Given the description of an element on the screen output the (x, y) to click on. 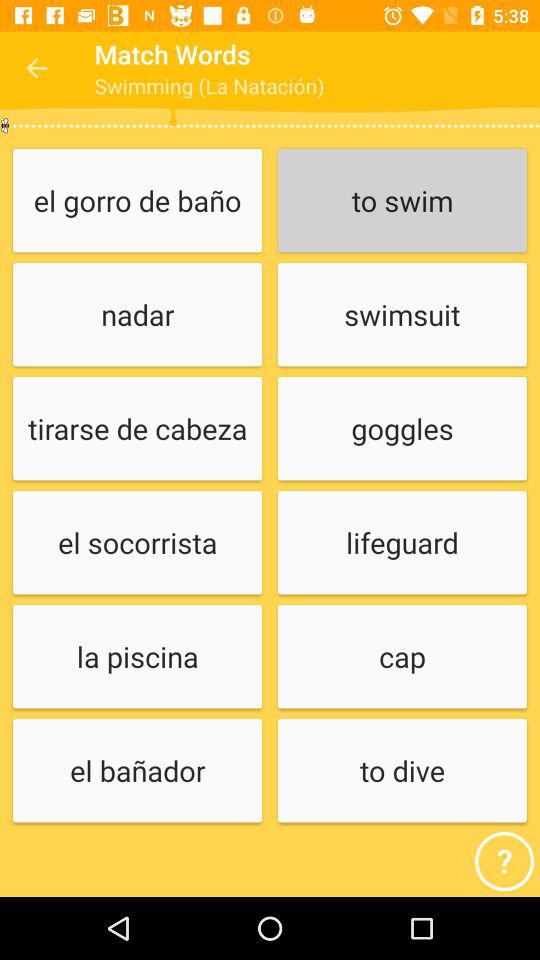
open the item below the el socorrista (137, 657)
